Given the description of an element on the screen output the (x, y) to click on. 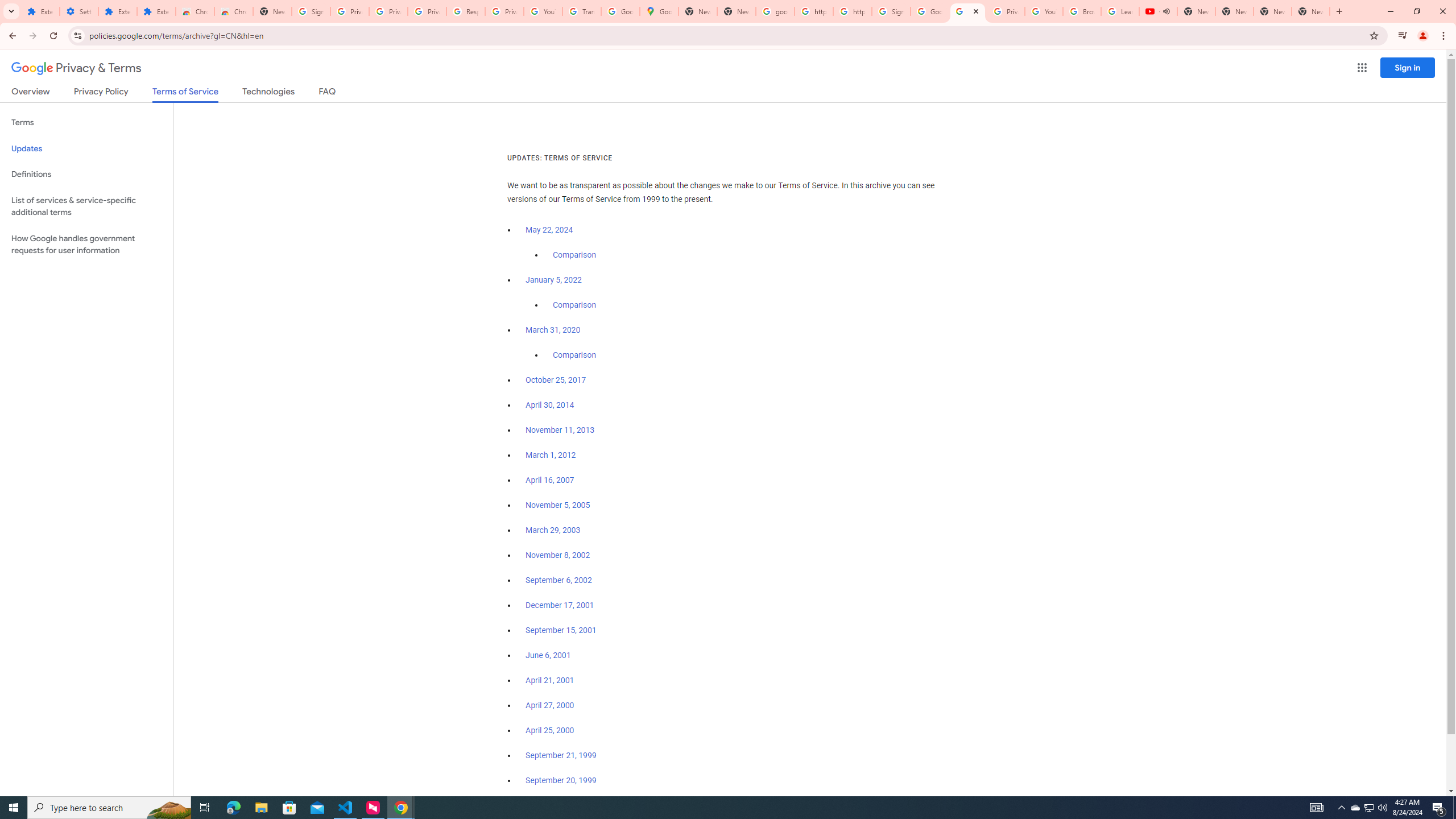
March 29, 2003 (552, 530)
YouTube (1043, 11)
September 20, 1999 (560, 780)
April 21, 2001 (550, 679)
Extensions (156, 11)
January 5, 2022 (553, 280)
December 17, 2001 (559, 605)
https://scholar.google.com/ (813, 11)
